Given the description of an element on the screen output the (x, y) to click on. 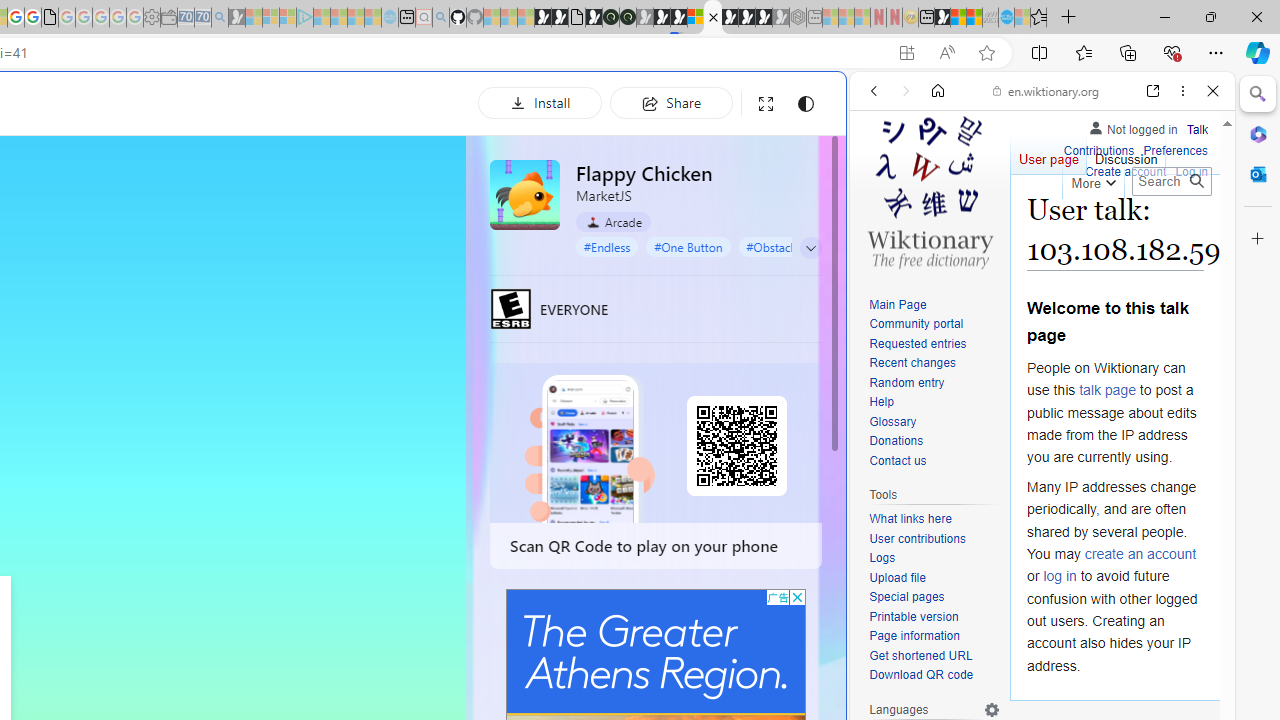
Class: control (811, 248)
Frequently visited (418, 265)
Talk (1197, 126)
Not logged in (1132, 126)
Home | Sky Blue Bikes - Sky Blue Bikes - Sleeping (389, 17)
log in (1059, 576)
Future Focus Report 2024 (627, 17)
